Given the description of an element on the screen output the (x, y) to click on. 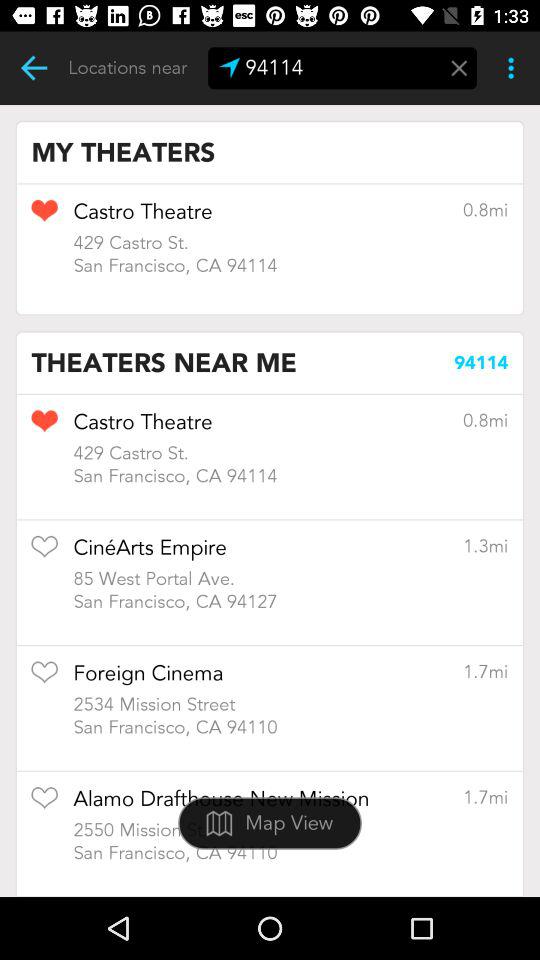
like button (44, 804)
